Given the description of an element on the screen output the (x, y) to click on. 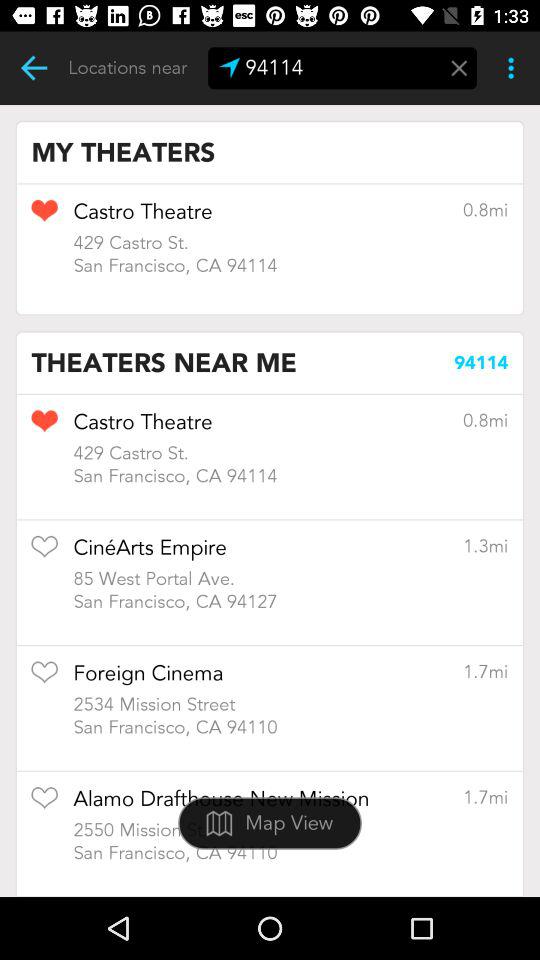
like button (44, 804)
